Given the description of an element on the screen output the (x, y) to click on. 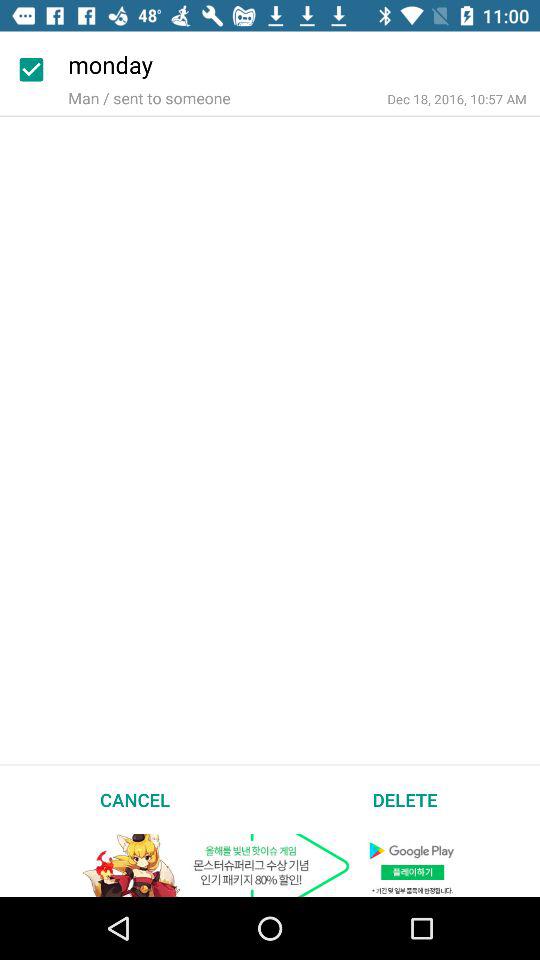
click the cancel (135, 799)
